Given the description of an element on the screen output the (x, y) to click on. 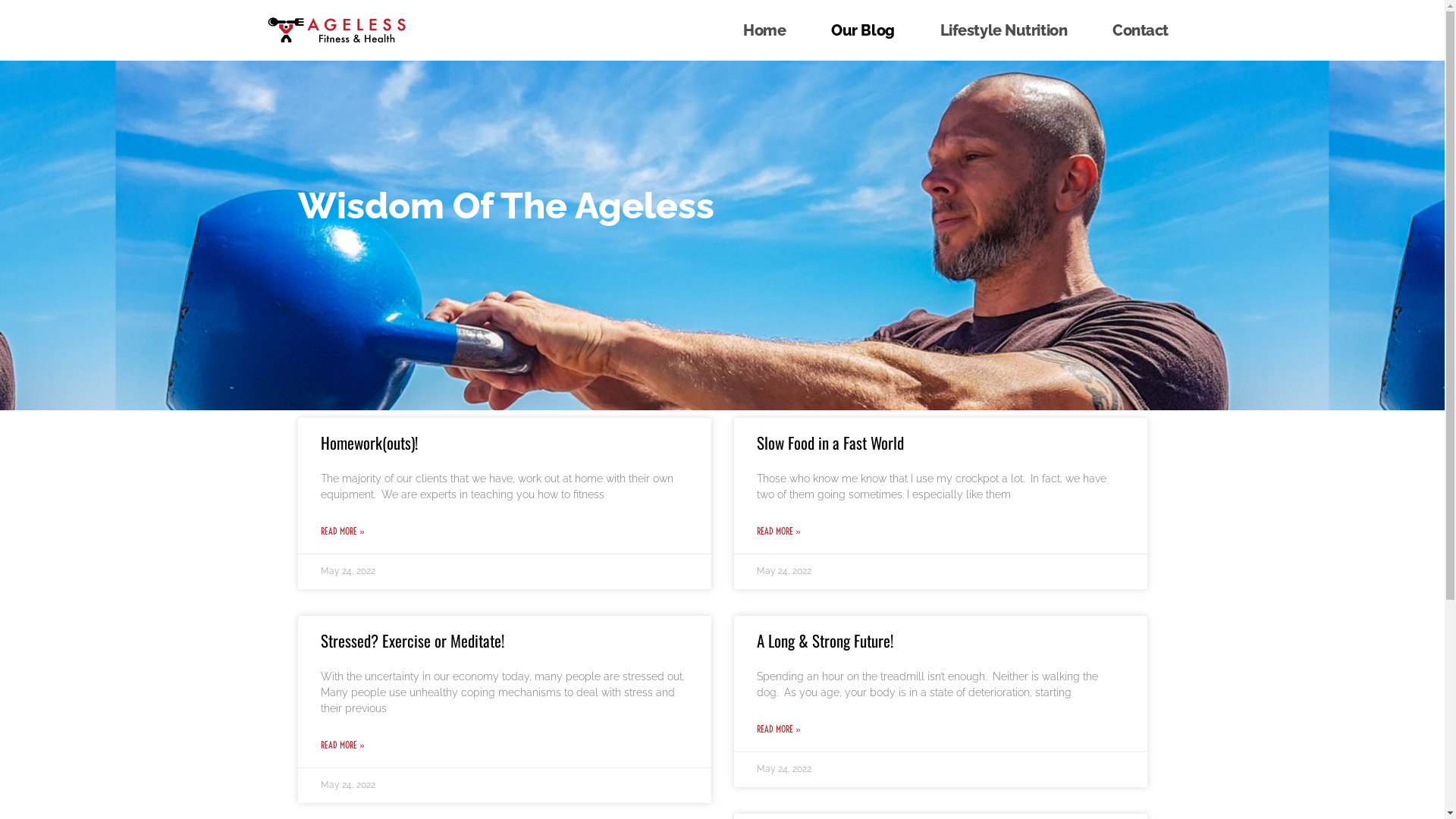
A Long & Strong Future! Element type: text (824, 640)
Slow Food in a Fast World Element type: text (829, 442)
Stressed? Exercise or Meditate! Element type: text (411, 640)
Contact Element type: text (1140, 30)
Homework(outs)! Element type: text (368, 442)
Lifestyle Nutrition Element type: text (1003, 30)
Home Element type: text (764, 30)
Our Blog Element type: text (862, 30)
